Given the description of an element on the screen output the (x, y) to click on. 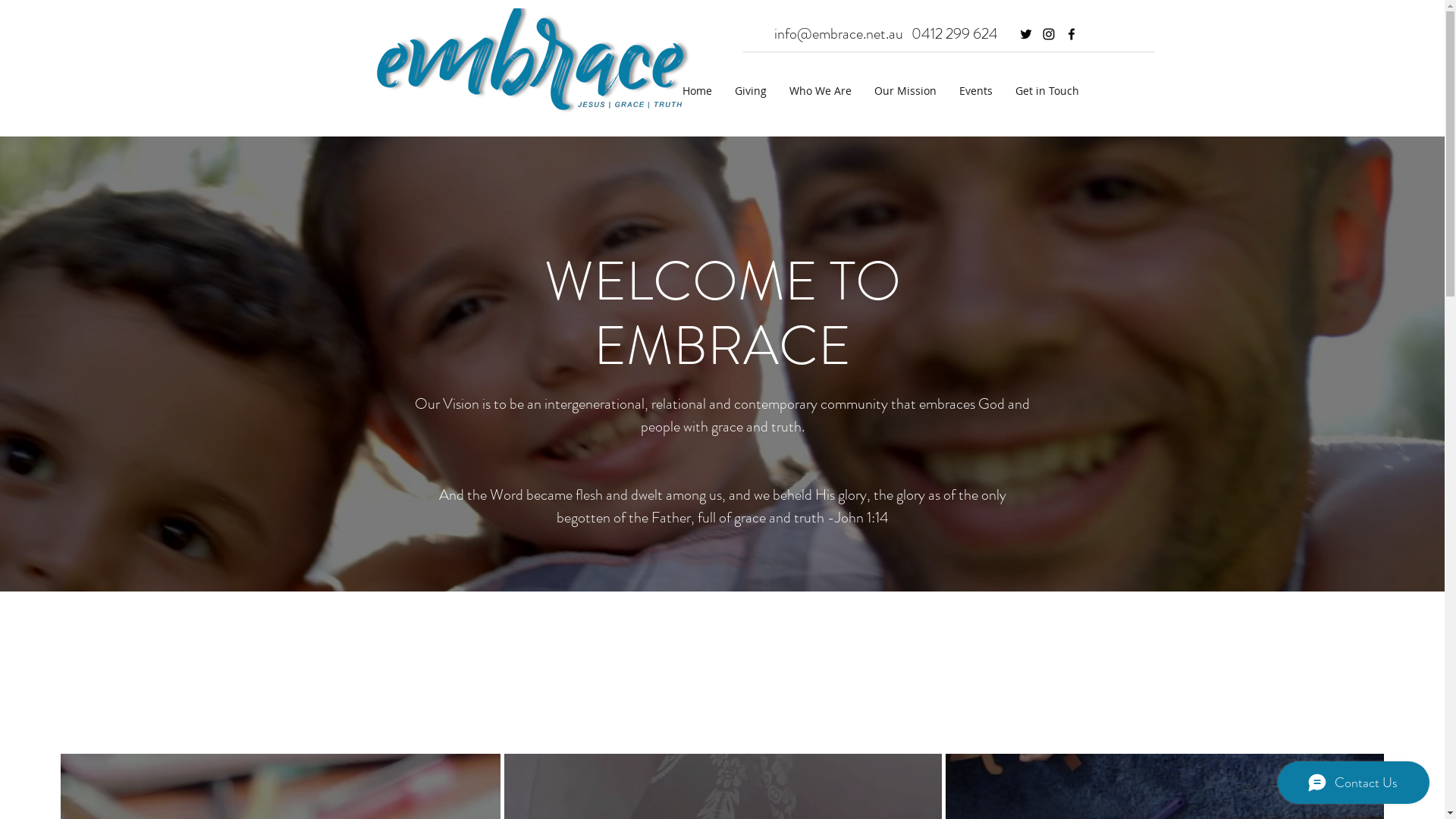
Events Element type: text (975, 90)
Get in Touch Element type: text (1047, 90)
info@embrace.net.au Element type: text (837, 33)
Giving Element type: text (750, 90)
Our Mission Element type: text (904, 90)
Who We Are Element type: text (820, 90)
Home Element type: text (696, 90)
